Given the description of an element on the screen output the (x, y) to click on. 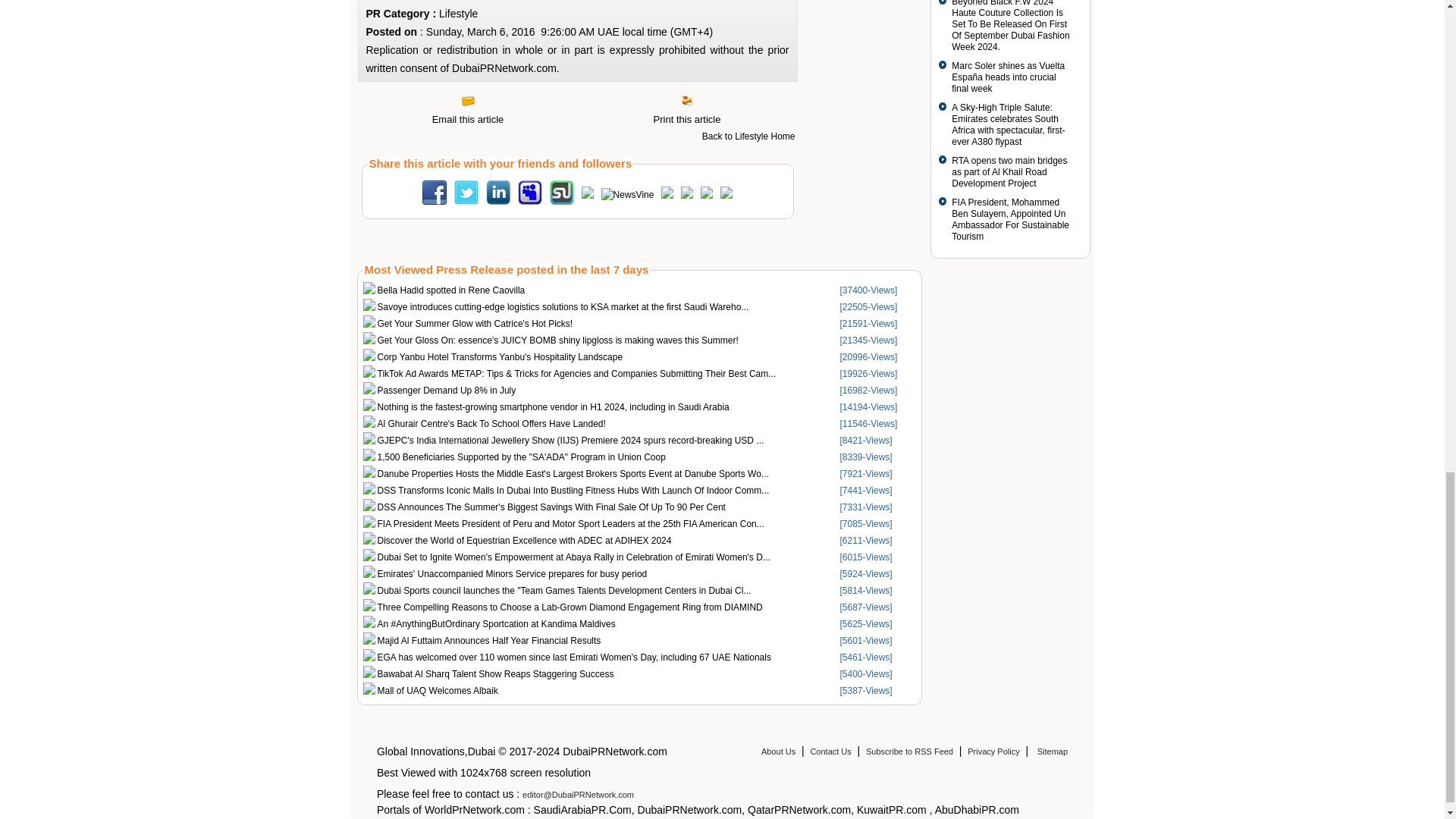
Twitter (466, 201)
Linkedin (498, 201)
Delicious (706, 195)
Reddit (666, 195)
Folkd (687, 195)
Facebook (434, 201)
Digg (587, 195)
NewsVine (627, 194)
Stumbleupon (561, 201)
NewsVine (627, 193)
